Given the description of an element on the screen output the (x, y) to click on. 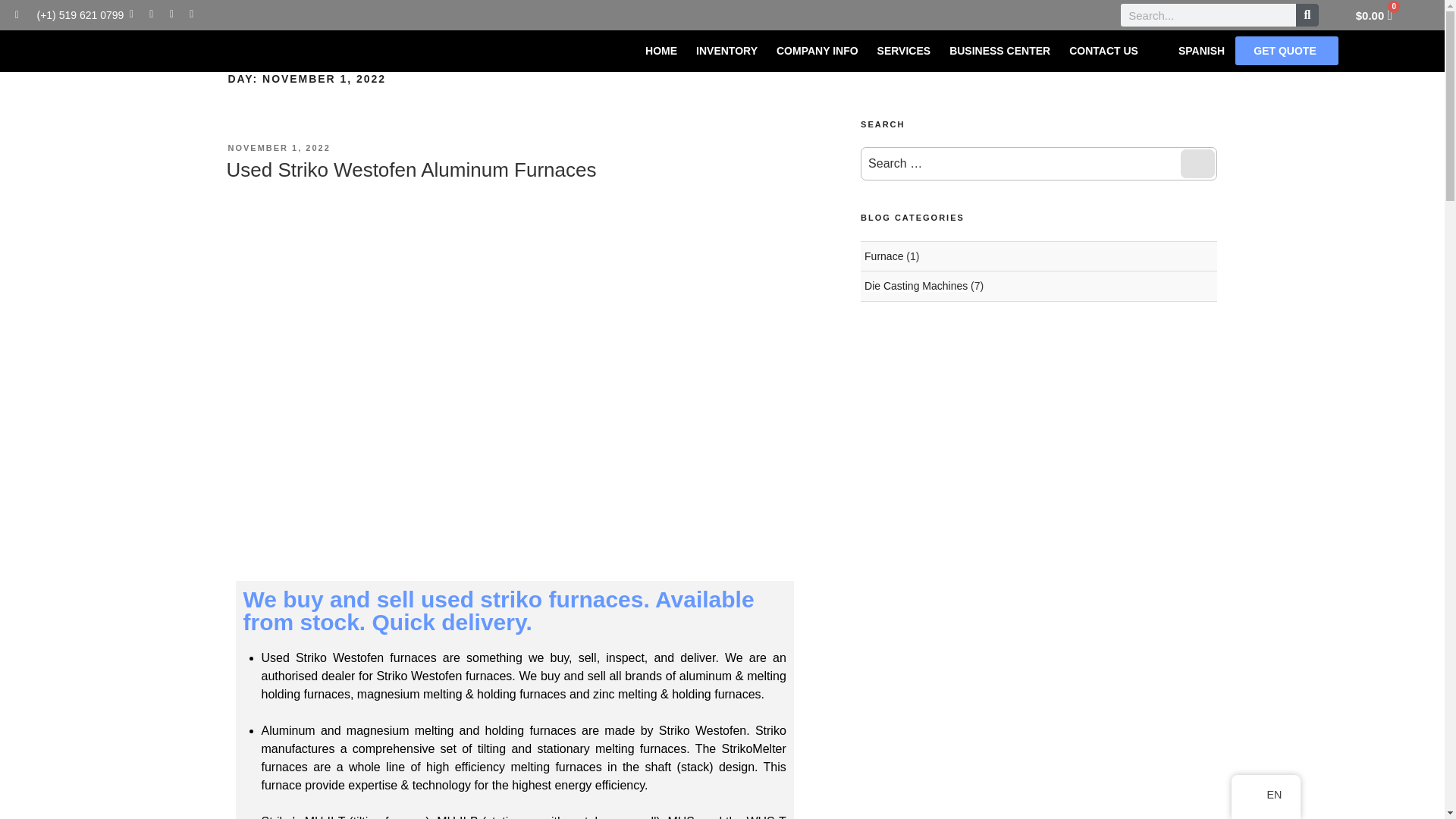
English (1256, 795)
INVENTORY (726, 50)
SERVICES (904, 50)
Spanish (1167, 50)
HOME (661, 50)
COMPANY INFO (817, 50)
